Given the description of an element on the screen output the (x, y) to click on. 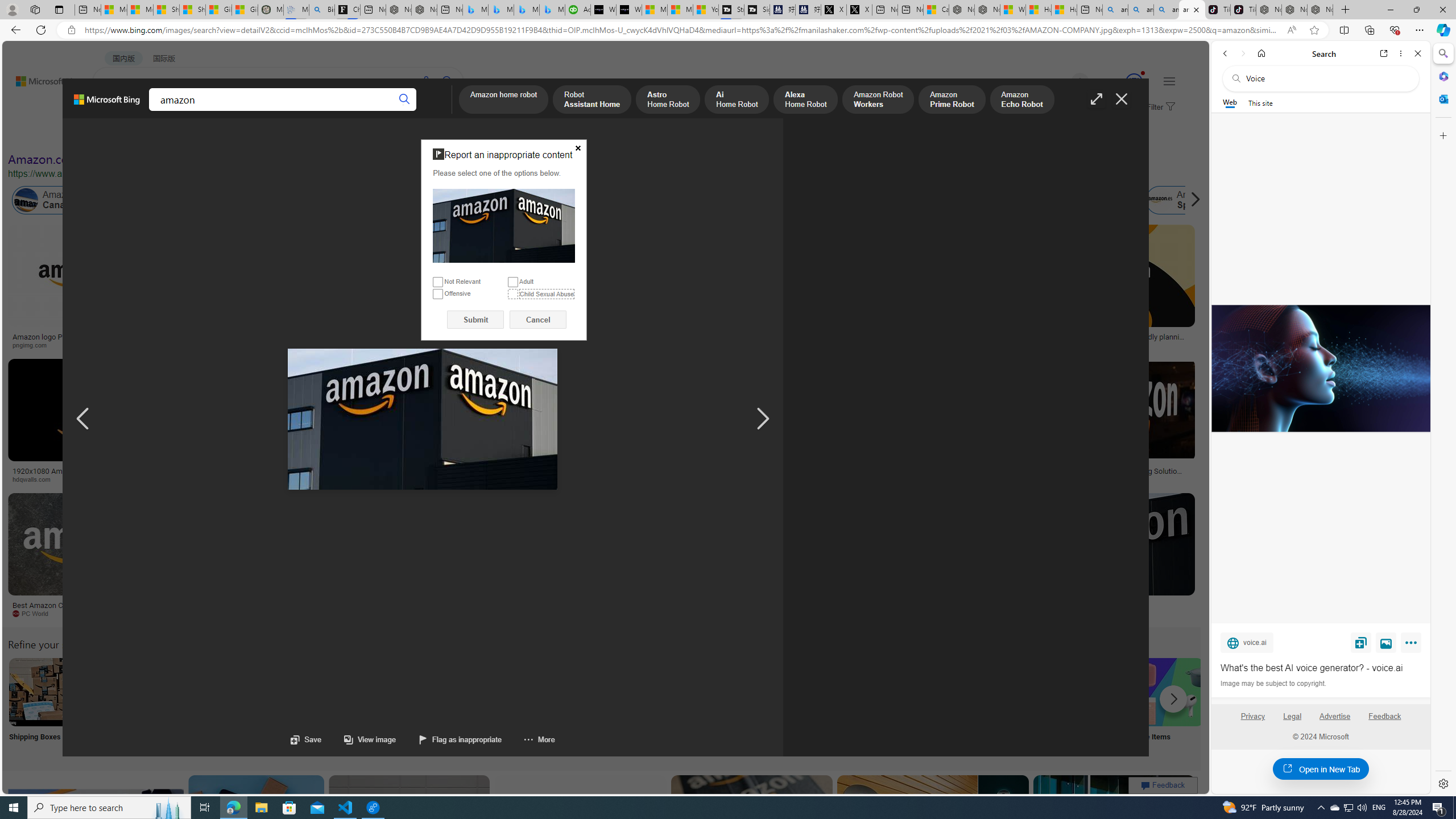
Search the web (1326, 78)
Settings and quick links (1168, 80)
Side bar (1443, 418)
Color (173, 135)
Flag as inappropriate (460, 739)
Amazon Logo (PNG e SVG) Download Vetorial Transparente (783, 340)
AutomationID: navl (82, 418)
3d illustration of amazon logo 18779928 PNG (939, 474)
Layout (252, 135)
